Given the description of an element on the screen output the (x, y) to click on. 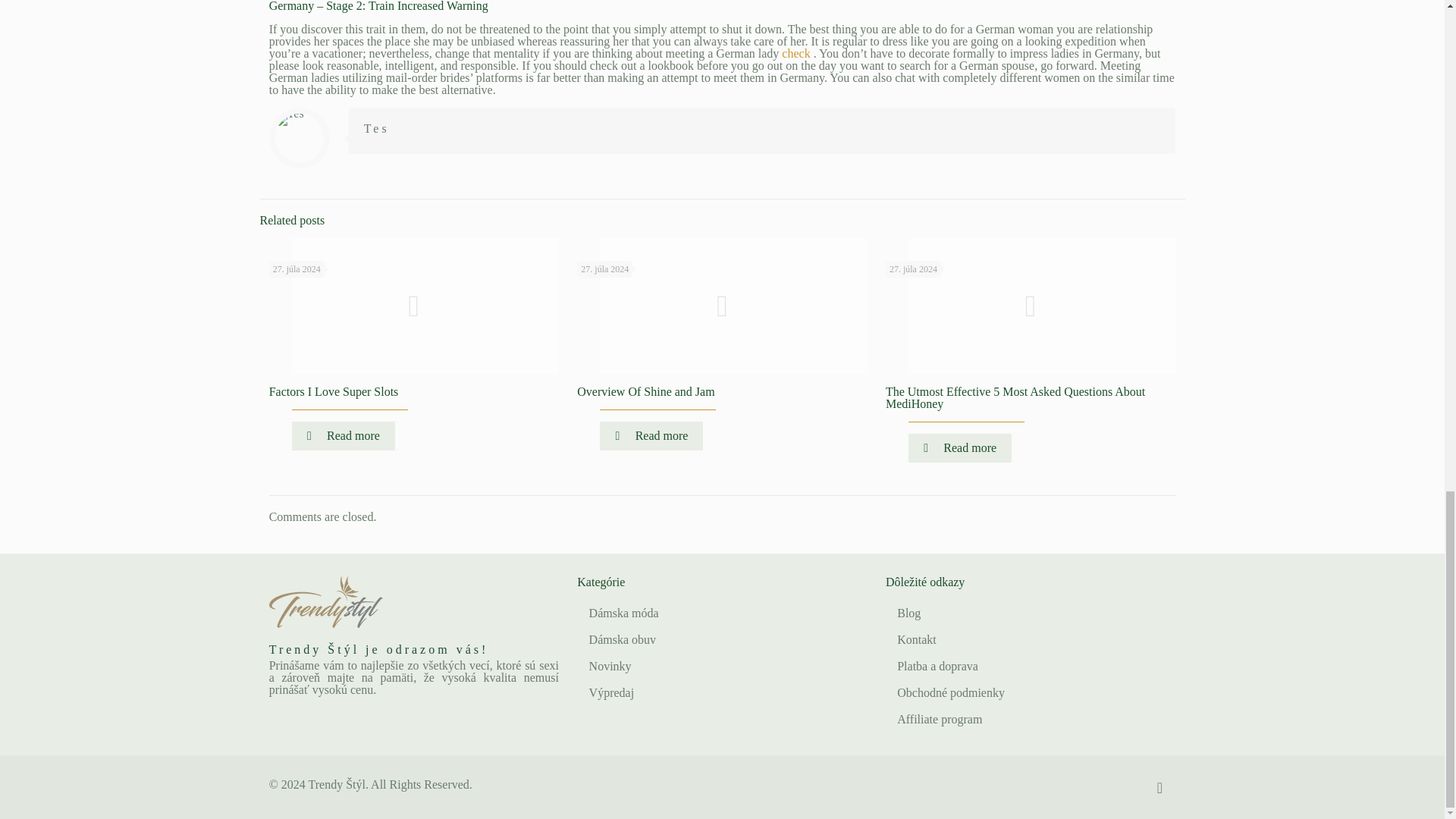
Read more (343, 435)
The Utmost Effective 5 Most Asked Questions About MediHoney (1014, 397)
check  (796, 52)
Read more (651, 435)
Overview Of Shine and Jam (645, 391)
Tes (377, 128)
trendystyl logo footer (325, 602)
Factors I Love Super Slots (333, 391)
